Given the description of an element on the screen output the (x, y) to click on. 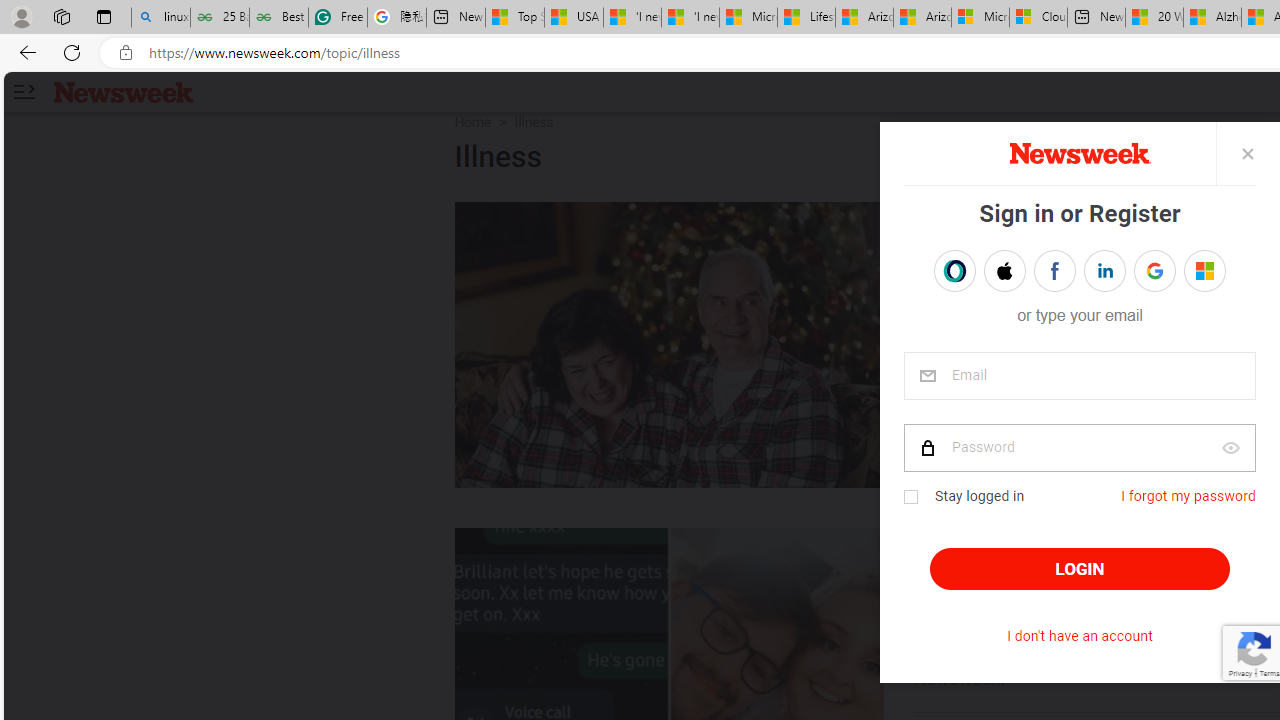
MY TURN (963, 222)
Eugene (1191, 271)
Sign in with OPENPASS (954, 270)
AutomationID: side-arrow (23, 92)
Sign in with APPLE (1004, 270)
Class: checkbox (909, 497)
password (1078, 448)
Newsweek logo (123, 91)
Sign in as Eugene EugeneLedger601@outlook.com (1204, 270)
Sign in with GOOGLE (1154, 270)
Newsweek logo (123, 91)
